Given the description of an element on the screen output the (x, y) to click on. 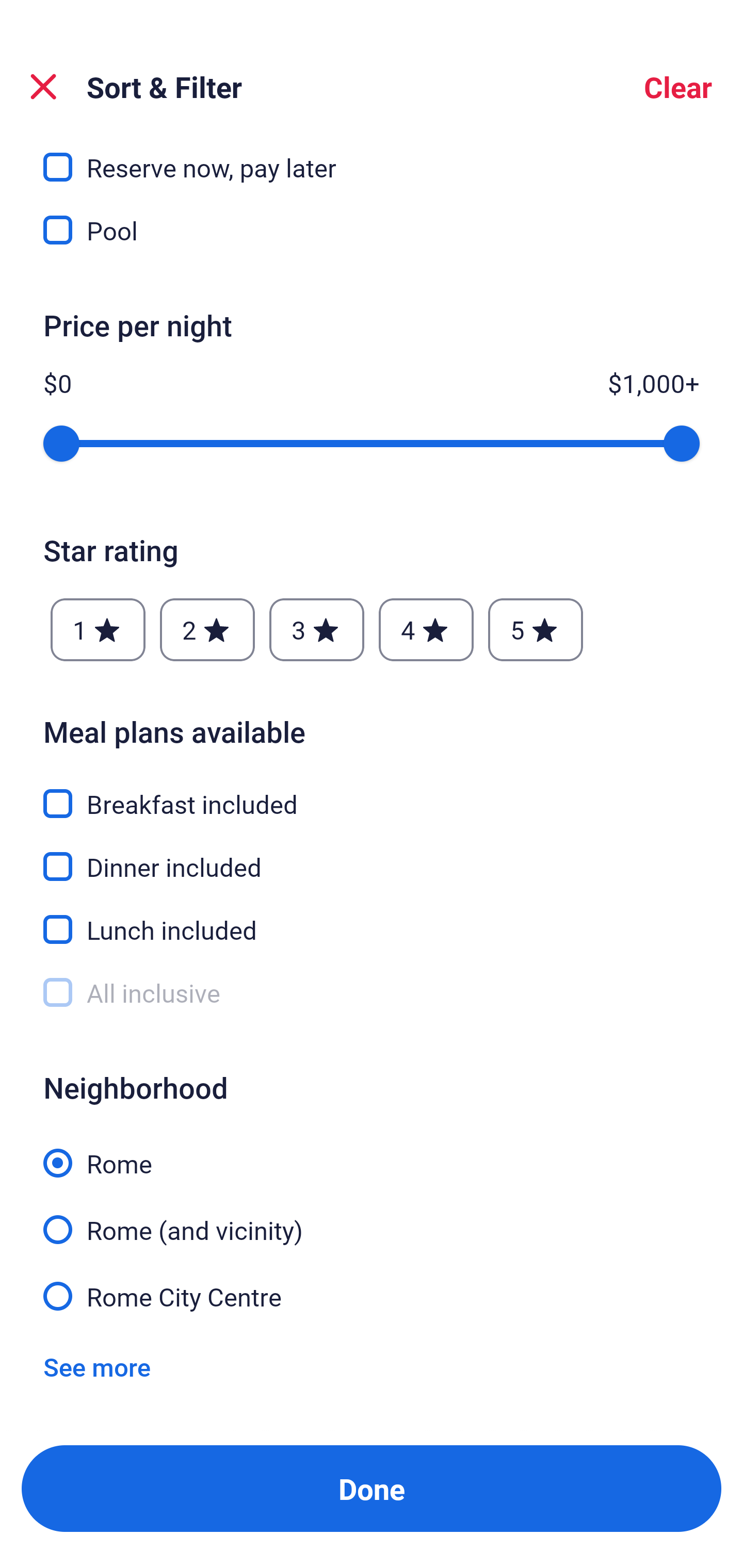
Close Sort and Filter (43, 86)
Clear (677, 86)
Reserve now, pay later, Reserve now, pay later (371, 158)
Pool, Pool (371, 230)
1 (97, 629)
2 (206, 629)
3 (316, 629)
4 (426, 629)
5 (535, 629)
Breakfast included, Breakfast included (371, 791)
Dinner included, Dinner included (371, 854)
Lunch included, Lunch included (371, 917)
All inclusive, All inclusive (371, 993)
Rome (and vicinity) (371, 1218)
Rome City Centre (371, 1295)
See more See more neighborhoods Link (96, 1366)
Apply and close Sort and Filter Done (371, 1488)
